Given the description of an element on the screen output the (x, y) to click on. 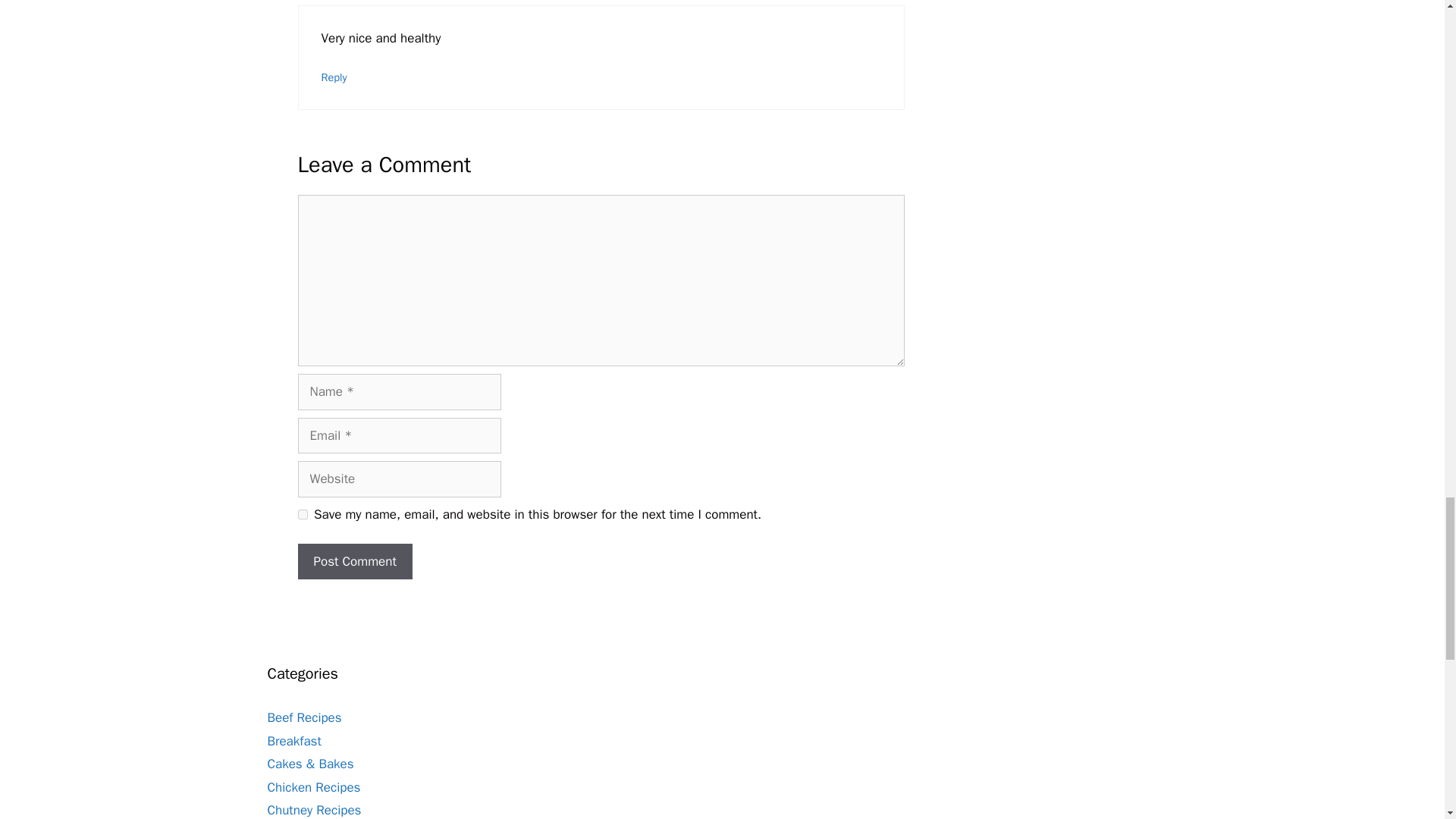
Post Comment (354, 561)
Post Comment (354, 561)
Reply (334, 76)
yes (302, 514)
